Given the description of an element on the screen output the (x, y) to click on. 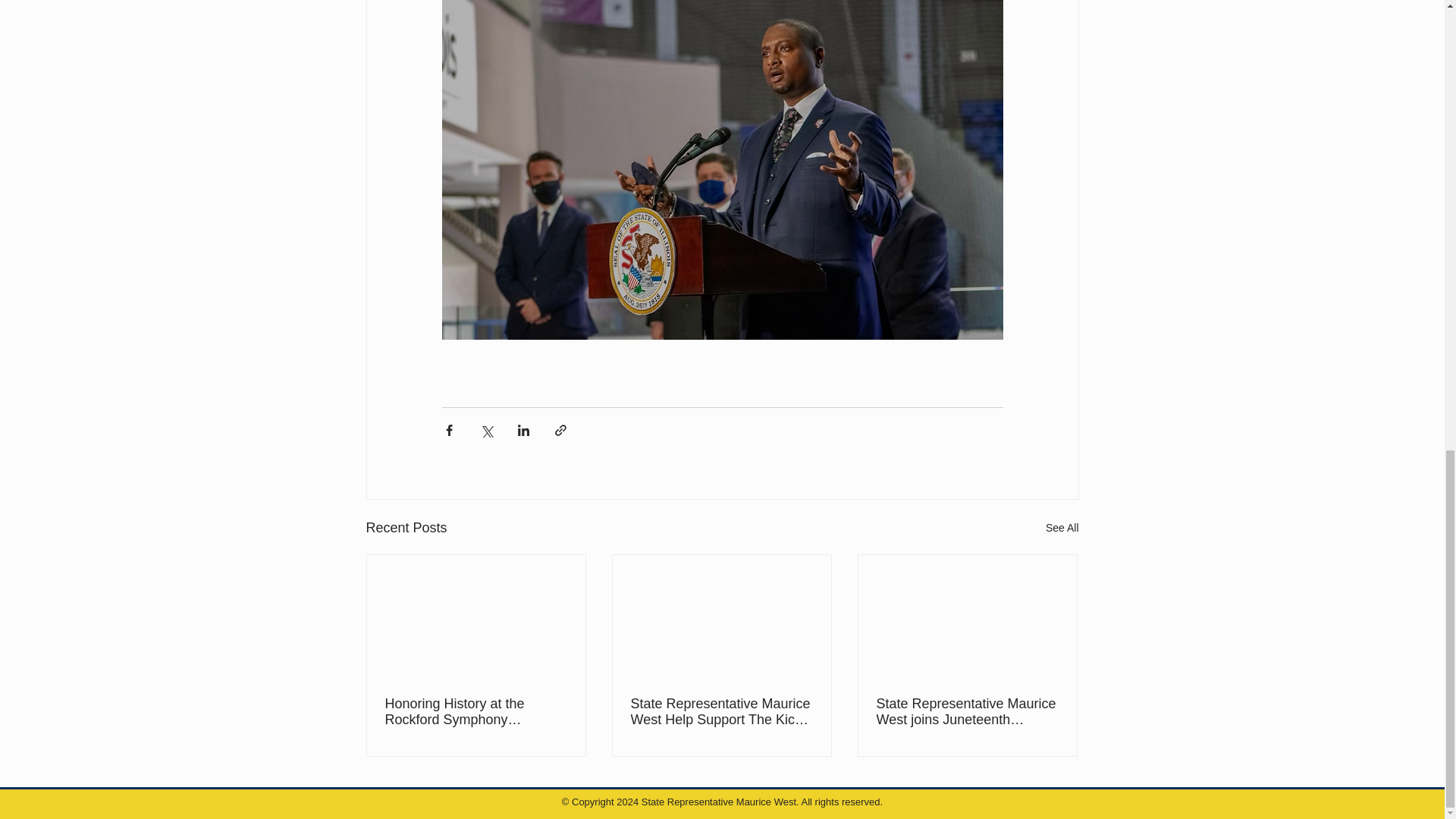
See All (1061, 527)
